Given the description of an element on the screen output the (x, y) to click on. 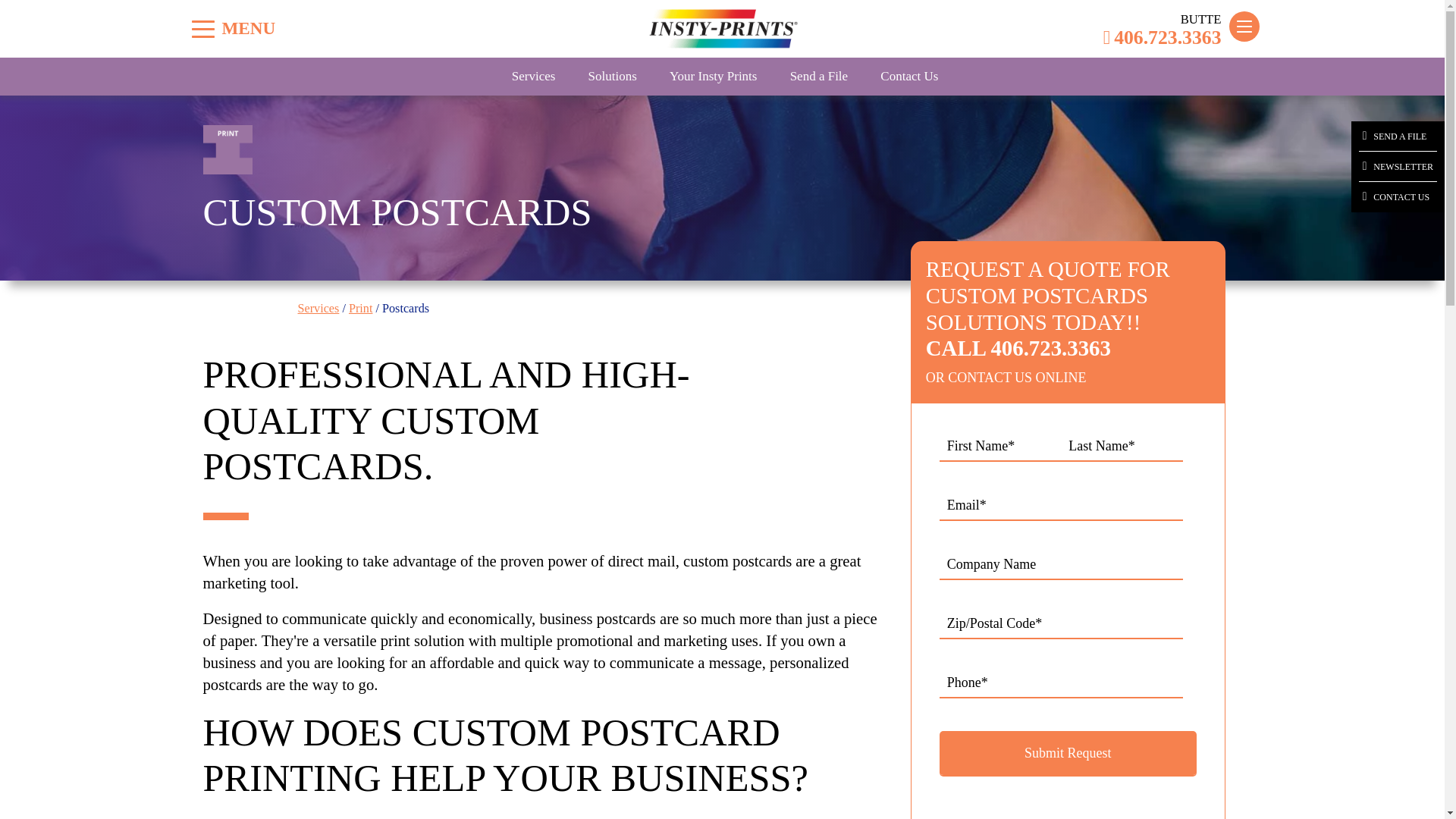
MENU (202, 28)
Solutions (612, 76)
Submit Request (1067, 753)
Services (534, 76)
Contact Us (908, 76)
406.723.3363 (1162, 37)
Print (360, 308)
Send a File (819, 76)
Your Insty Prints (713, 76)
Services (318, 308)
